Given the description of an element on the screen output the (x, y) to click on. 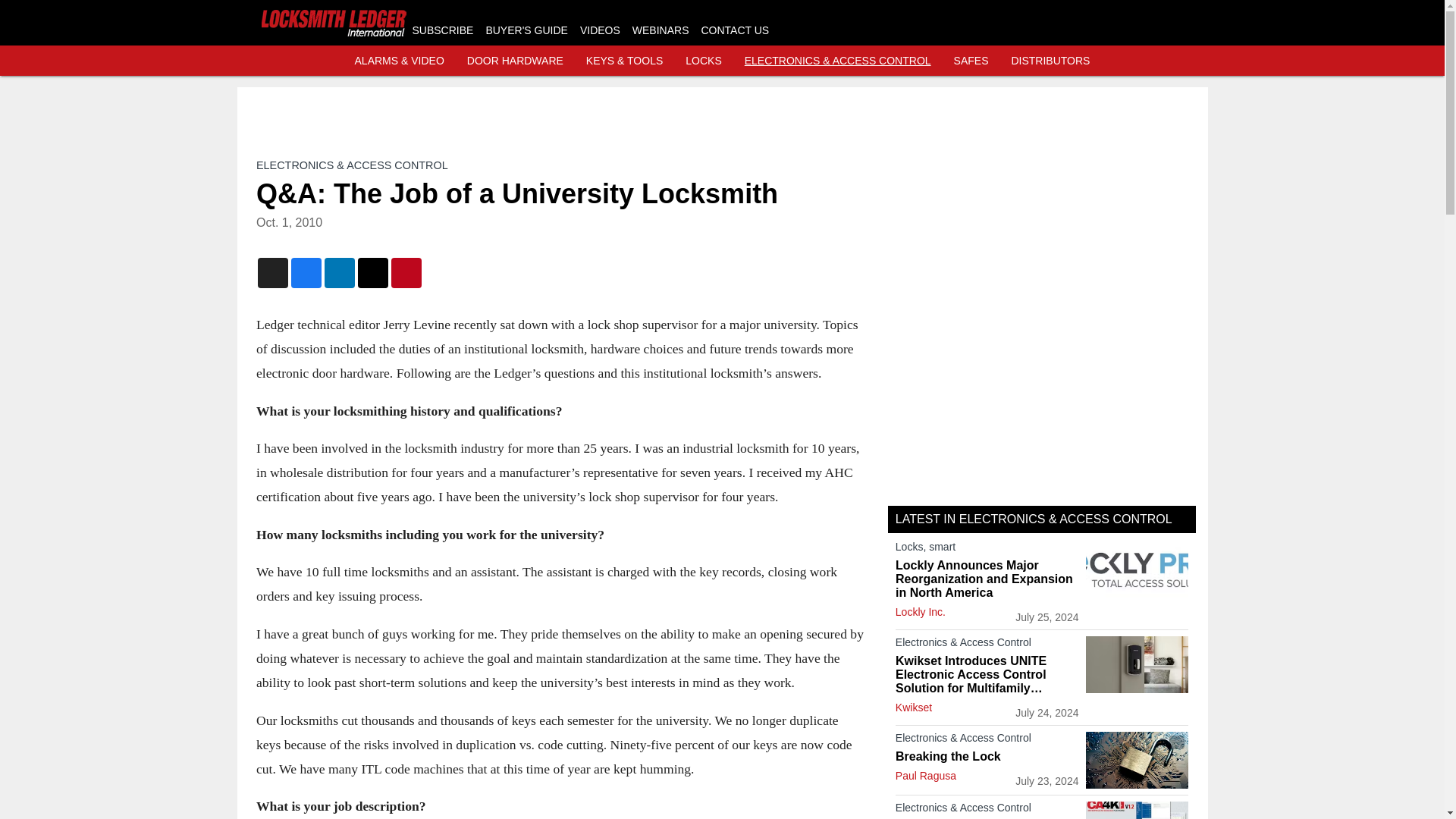
WEBINARS (659, 30)
SUBSCRIBE (443, 30)
VIDEOS (599, 30)
DOOR HARDWARE (515, 60)
Kwikset (913, 707)
Breaking the Lock (986, 756)
Kwikset Unite (1137, 664)
Lockly Inc. (919, 612)
CONTACT US (734, 30)
SAFES (970, 60)
BUYER'S GUIDE (525, 30)
LOCKS (702, 60)
DISTRIBUTORS (1049, 60)
